Given the description of an element on the screen output the (x, y) to click on. 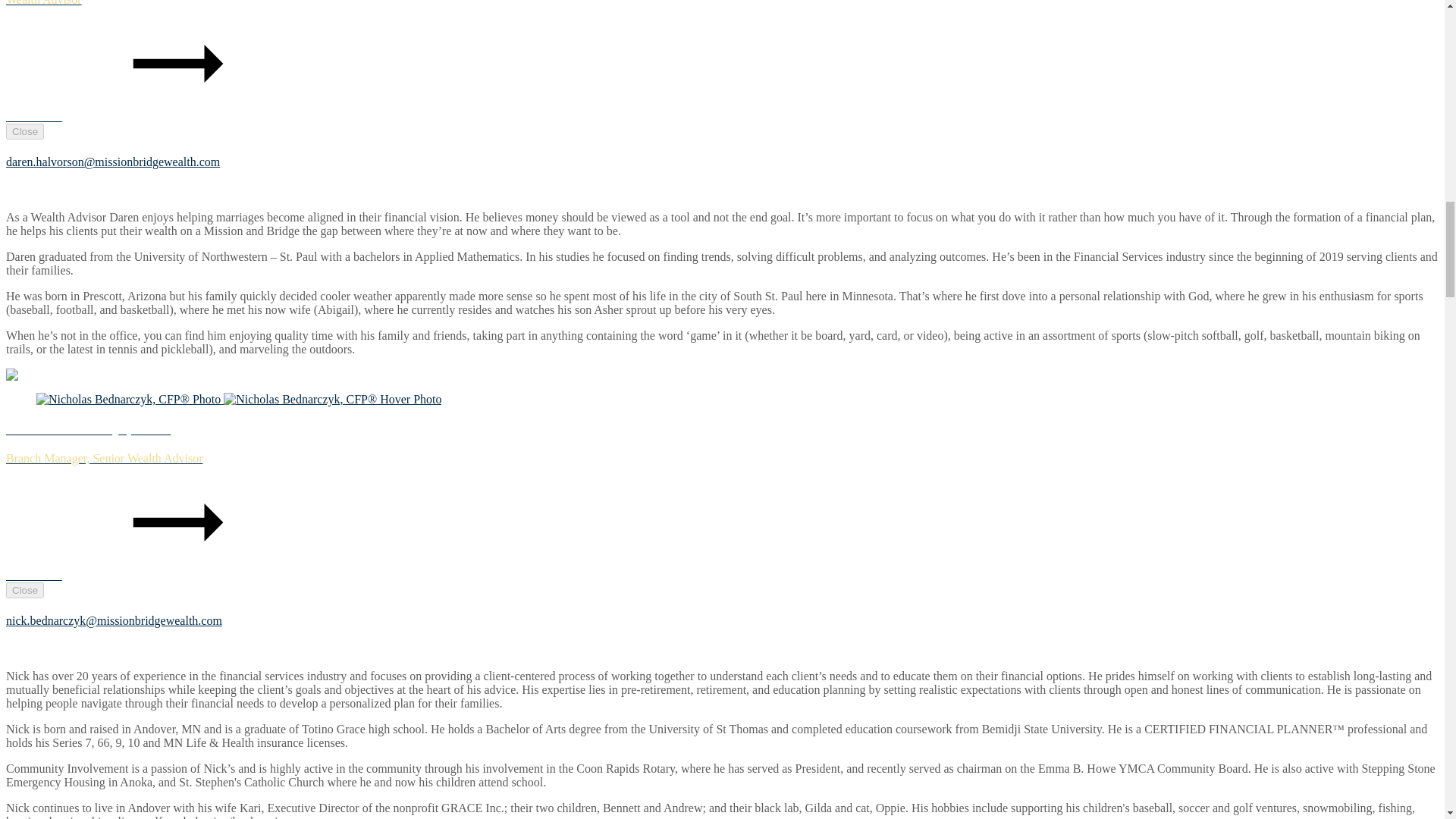
Close (24, 131)
Close (24, 590)
